Given the description of an element on the screen output the (x, y) to click on. 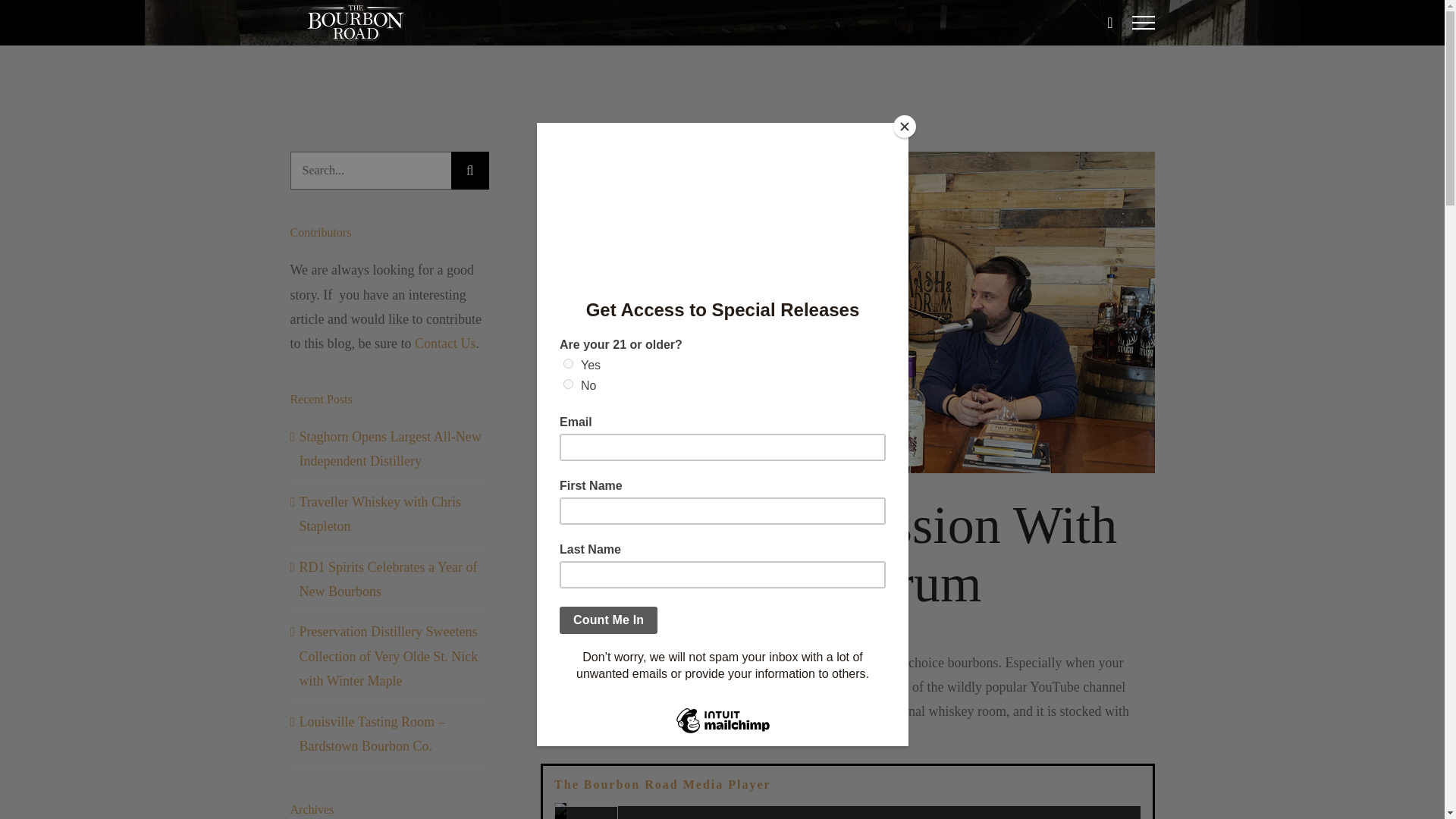
Page 1 (847, 699)
RD1 Spirits Celebrates a Year of New Bourbons (387, 578)
Contact Us (445, 343)
Staghorn Opens Largest All-New Independent Distillery (389, 448)
Traveller Whiskey with Chris Stapleton (379, 513)
